Given the description of an element on the screen output the (x, y) to click on. 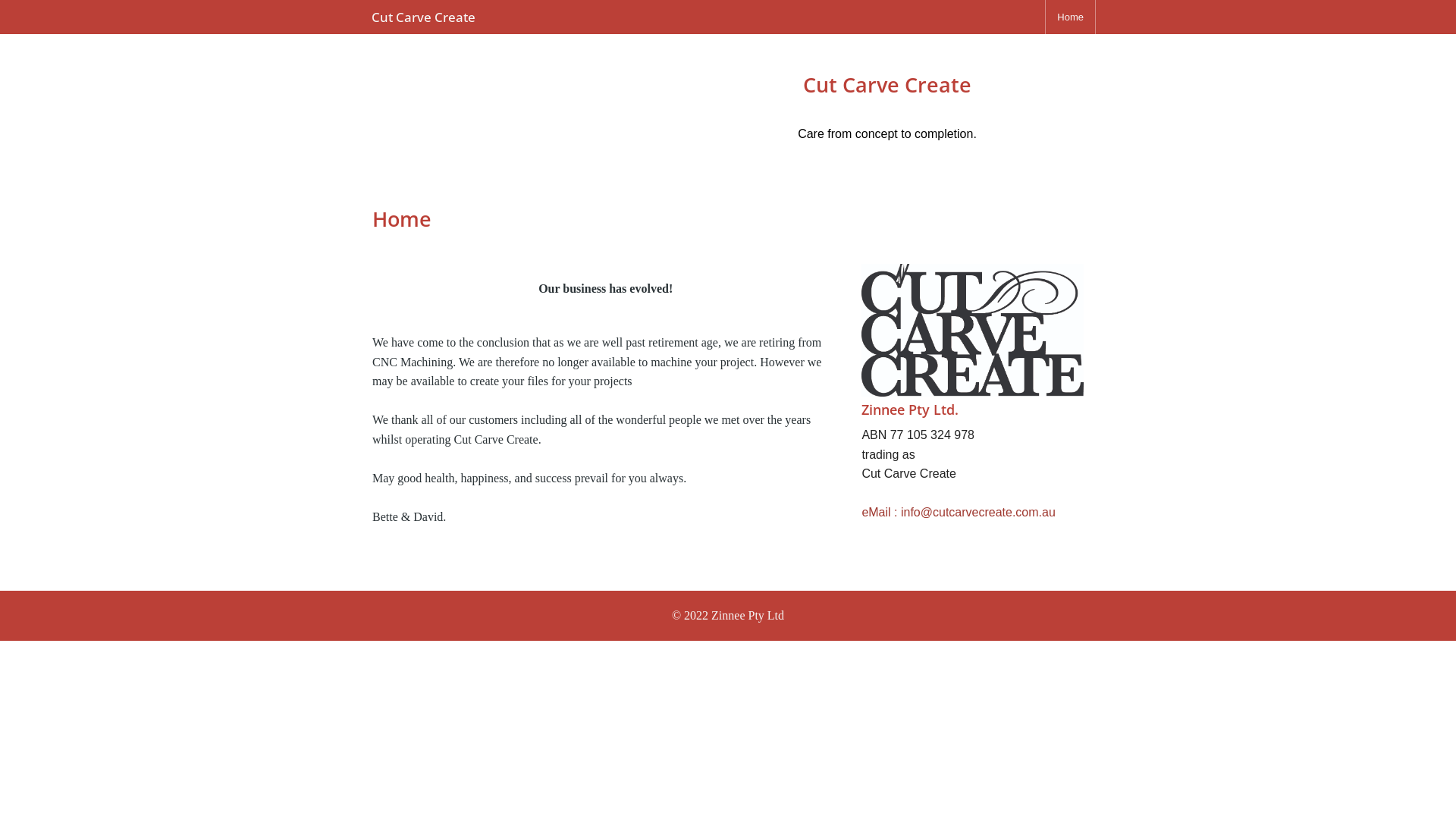
Home Element type: text (1070, 17)
Cut Carve Create Element type: text (423, 17)
